Given the description of an element on the screen output the (x, y) to click on. 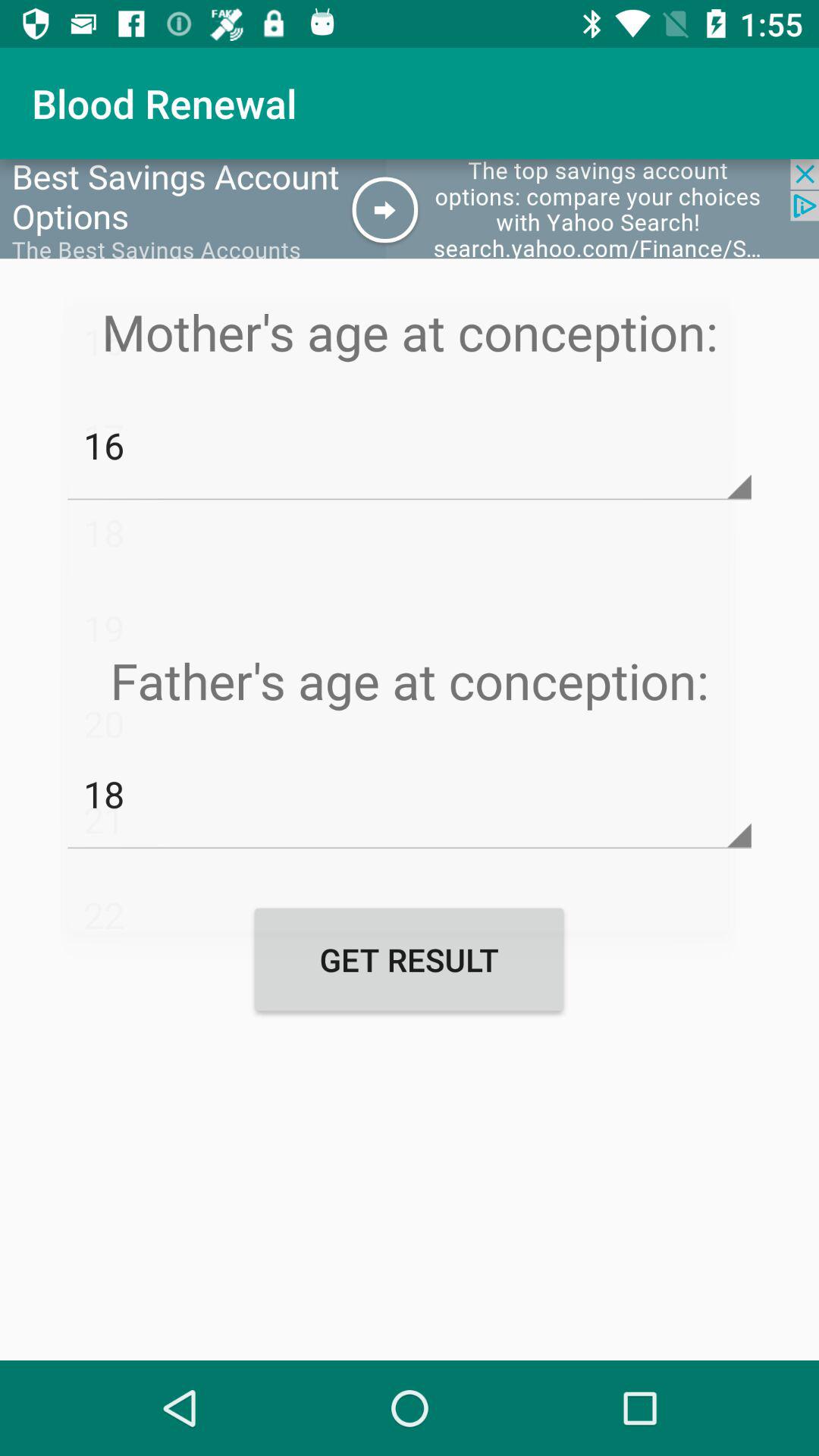
tap the icon above mother s age (409, 208)
